Given the description of an element on the screen output the (x, y) to click on. 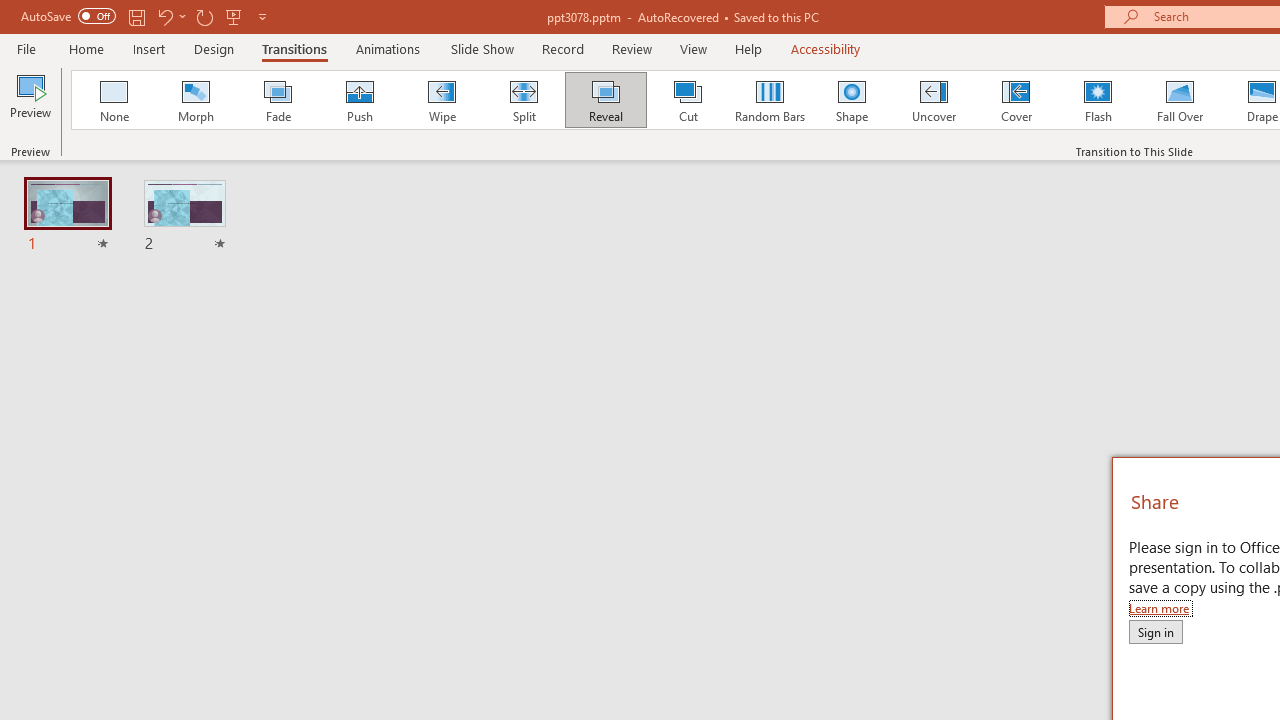
Fall Over (1180, 100)
Morph (195, 100)
Reveal (605, 100)
None (113, 100)
Random Bars (770, 100)
Sign in (1155, 631)
Flash (1098, 100)
